Given the description of an element on the screen output the (x, y) to click on. 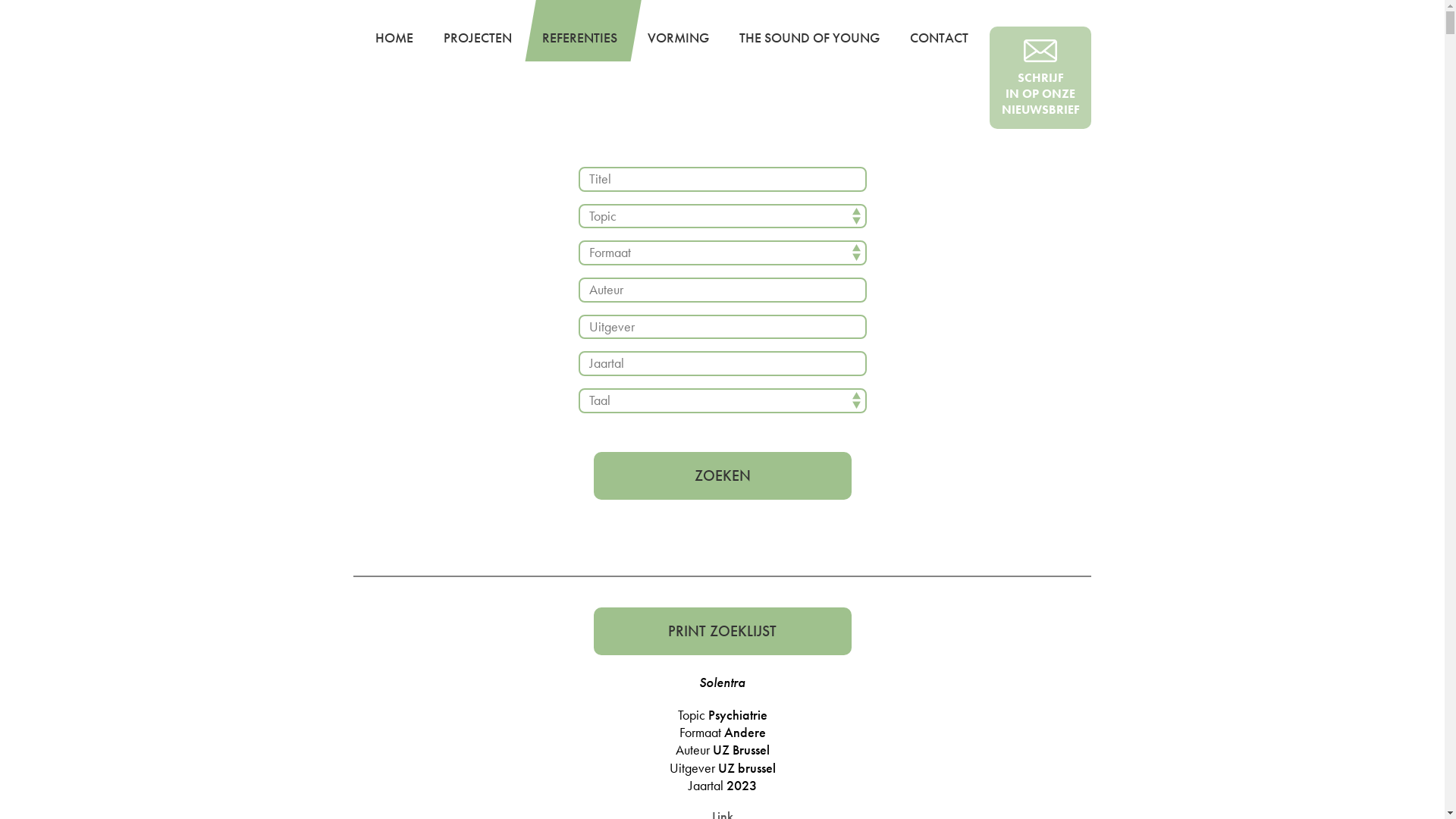
REFERENTIES Element type: text (579, 38)
PRINT ZOEKLIJST Element type: text (721, 631)
CONTACT Element type: text (938, 38)
ZOEKEN Element type: text (721, 475)
THE SOUND OF YOUNG Element type: text (809, 38)
SCHRIJF
IN OP ONZE
NIEUWSBRIEF Element type: text (1040, 77)
PROJECTEN Element type: text (477, 38)
HOME Element type: text (394, 38)
VORMING Element type: text (678, 38)
